Given the description of an element on the screen output the (x, y) to click on. 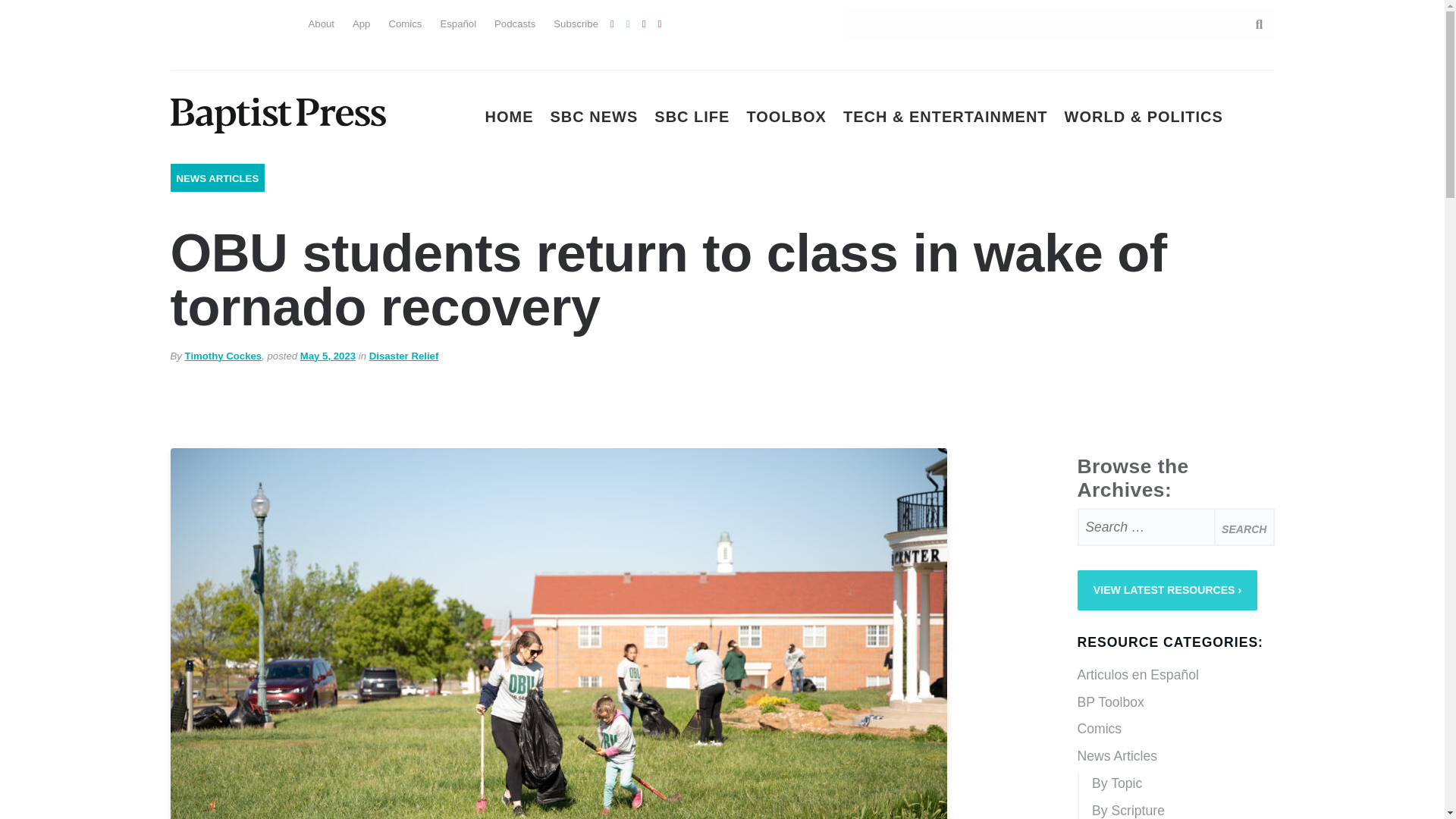
TOOLBOX (786, 116)
SBC LIFE (691, 116)
Spanish (209, 21)
Search (1244, 526)
Podcasts (515, 23)
Korean (237, 51)
May 5, 2023 (327, 355)
Haitian (182, 51)
SBC NEWS (594, 116)
Comics (405, 23)
Portuguese (237, 21)
App (360, 23)
Subscribe (575, 23)
About (320, 23)
English (182, 21)
